Given the description of an element on the screen output the (x, y) to click on. 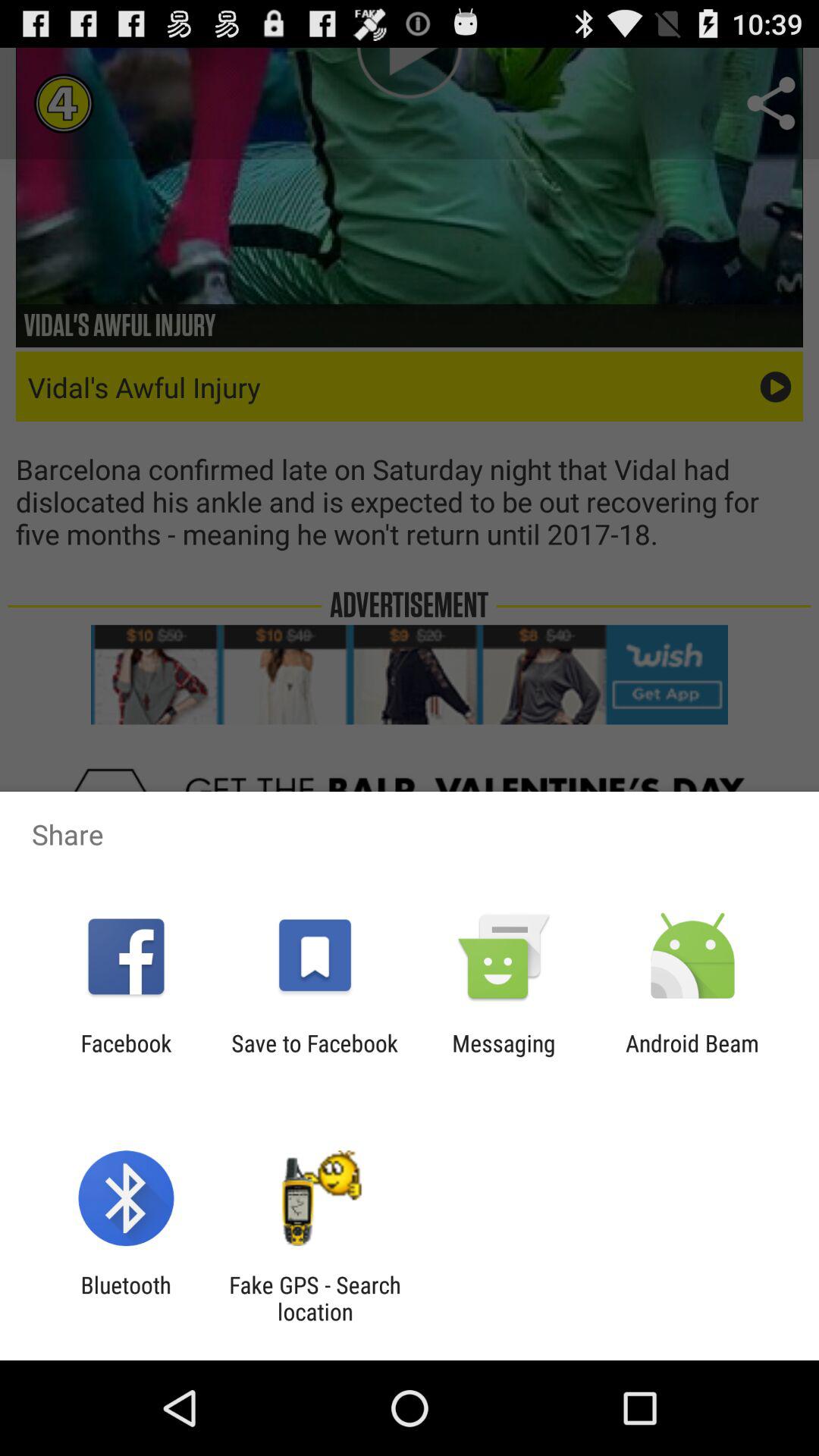
launch the icon at the bottom right corner (692, 1056)
